Given the description of an element on the screen output the (x, y) to click on. 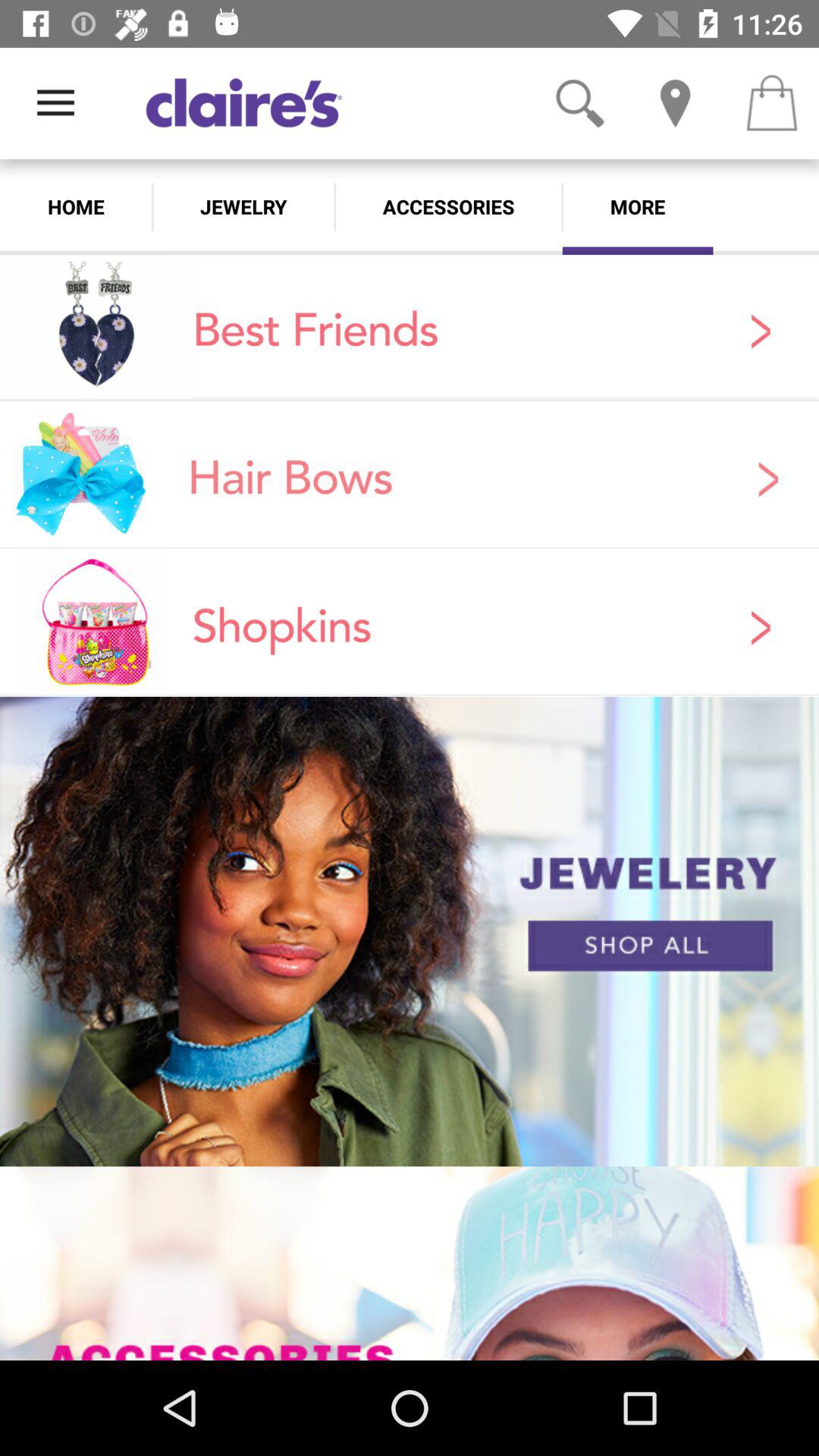
flip to jewelry item (243, 206)
